Given the description of an element on the screen output the (x, y) to click on. 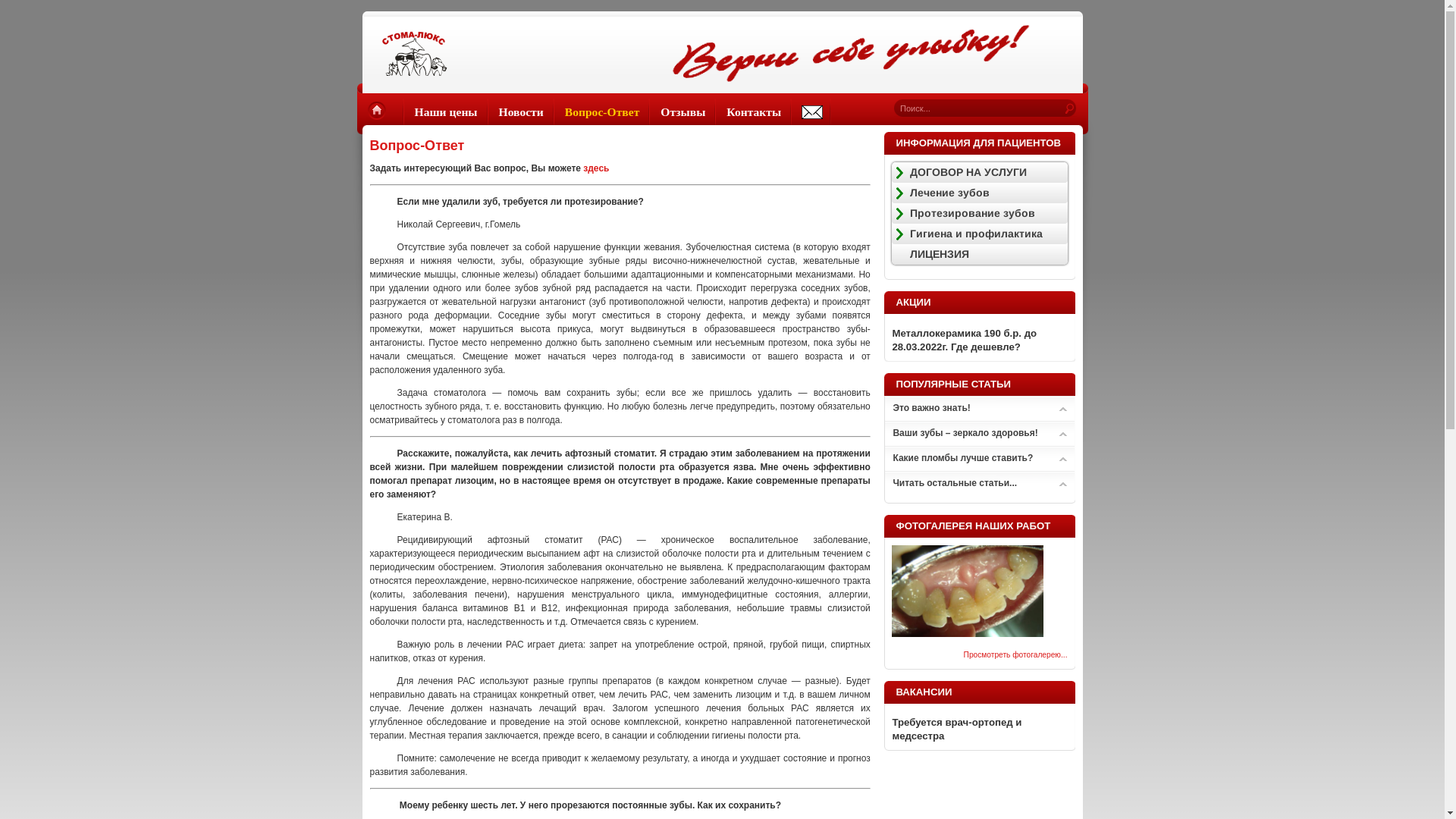
12 Element type: hover (967, 633)
_.._ Element type: text (810, 111)
